Given the description of an element on the screen output the (x, y) to click on. 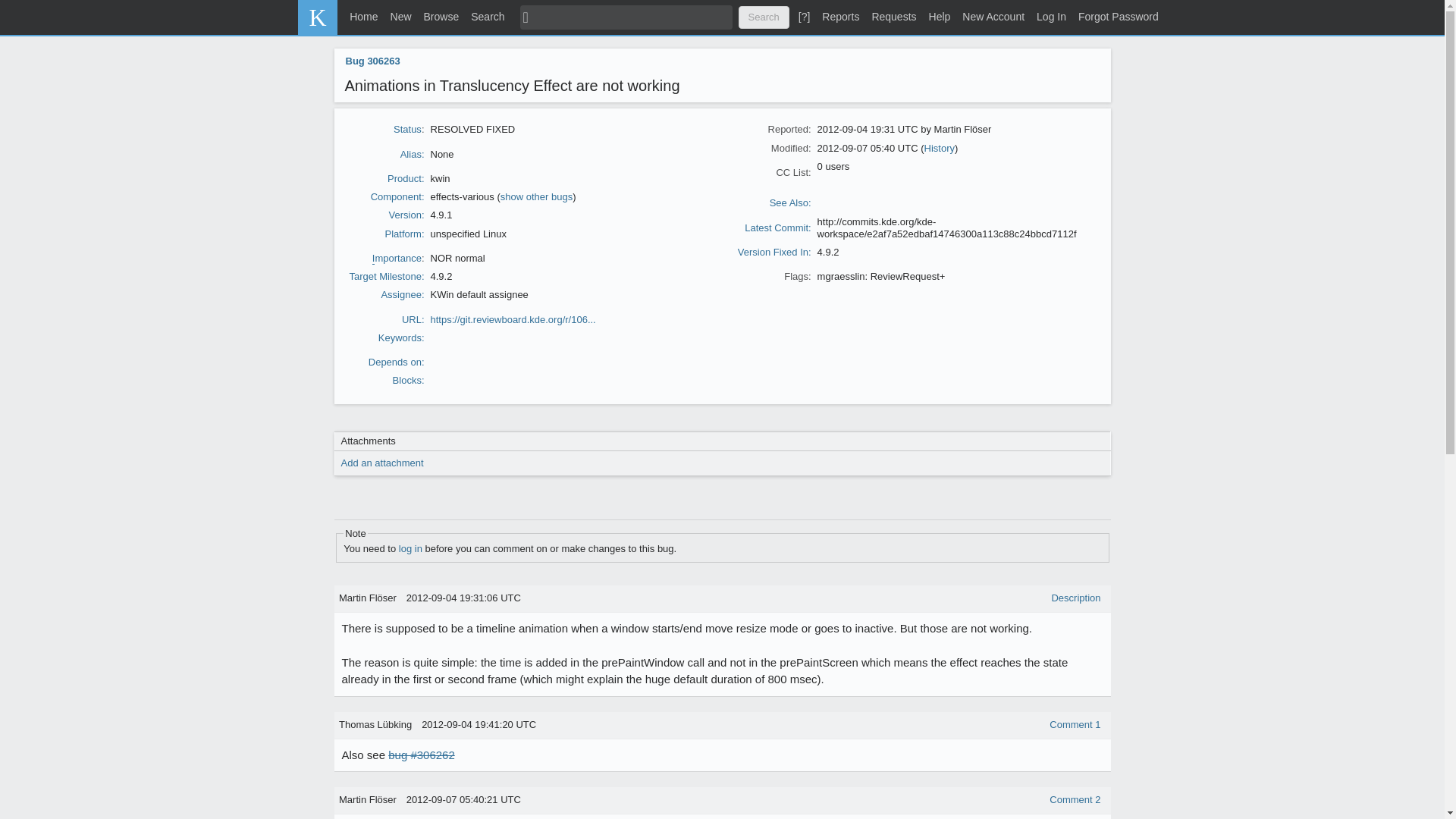
Importance (397, 258)
A custom Free Text field in this installation of Bugzilla. (777, 227)
Version: (406, 214)
Reports (839, 16)
Status (407, 129)
New Account (993, 16)
Help (939, 16)
Home (338, 16)
History (939, 147)
Latest Commit: (777, 227)
